Given the description of an element on the screen output the (x, y) to click on. 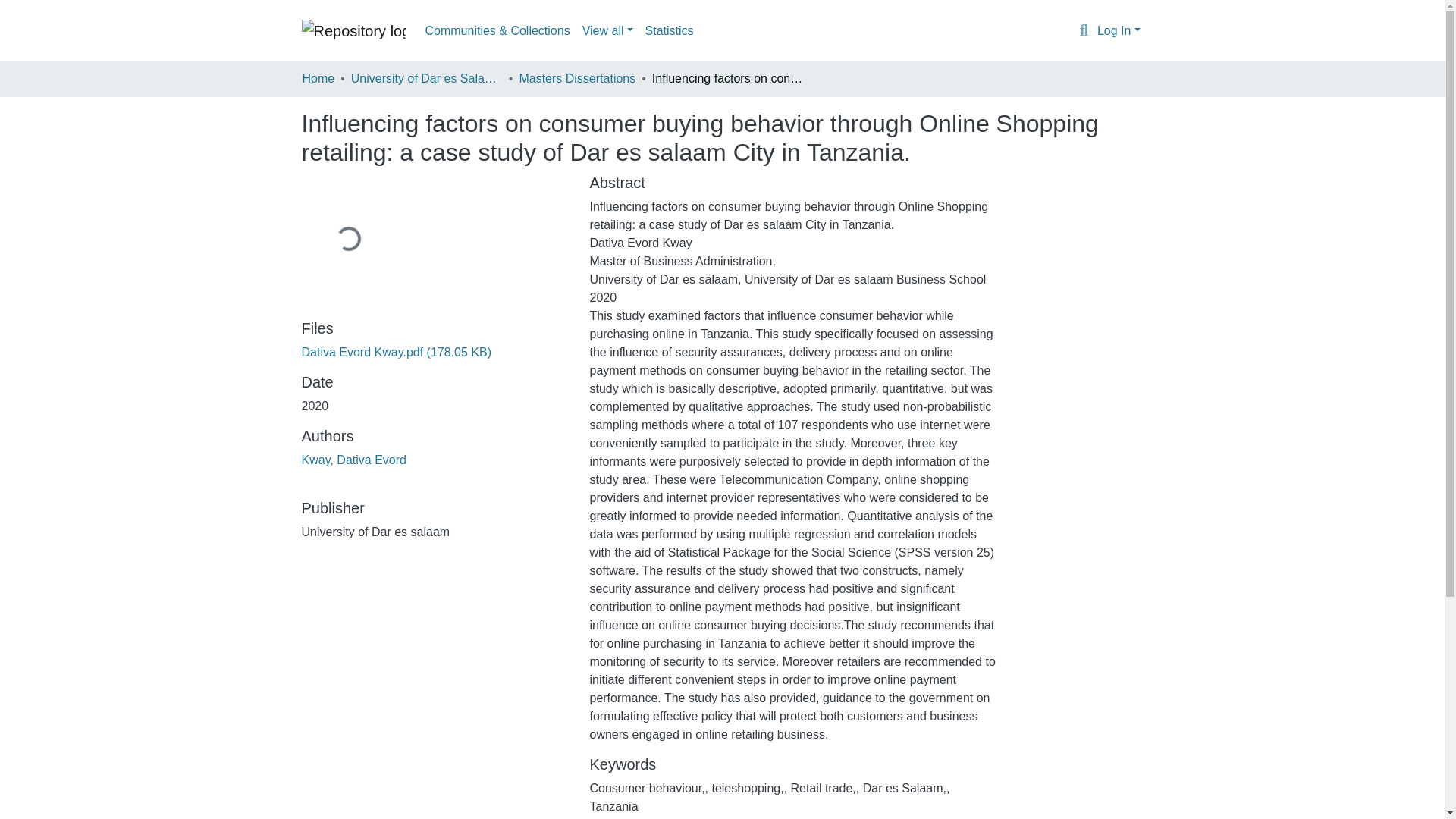
University of Dar es Salaam Business School (426, 78)
Statistics (669, 30)
Log In (1118, 30)
Kway, Dativa Evord (353, 459)
Statistics (669, 30)
Masters Dissertations (576, 78)
Home (317, 78)
Search (1084, 30)
View all (607, 30)
